Given the description of an element on the screen output the (x, y) to click on. 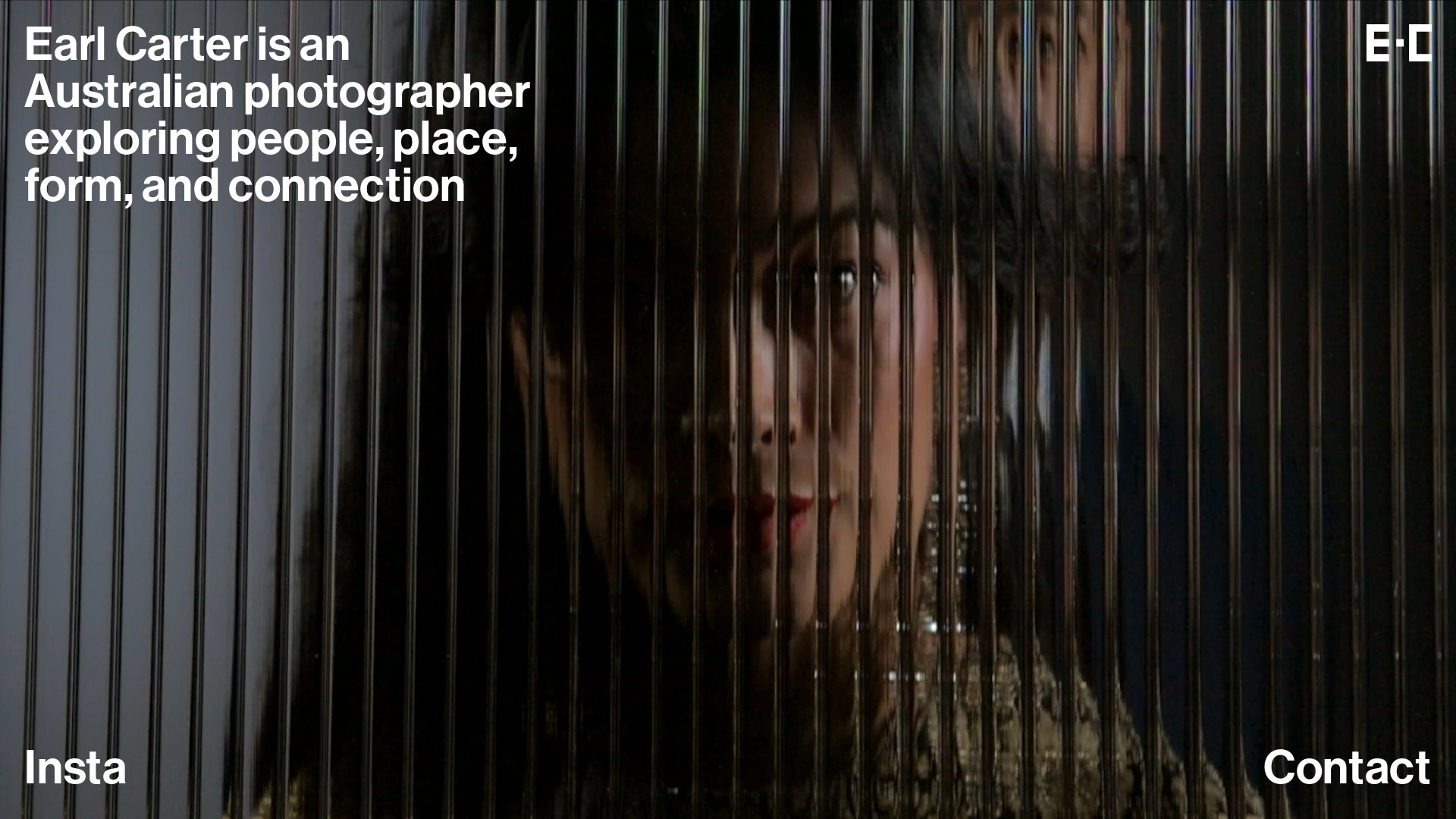
Insta Element type: text (75, 770)
Contact Element type: text (1347, 769)
Contact Element type: text (1347, 770)
Earl ? Element type: text (82, 46)
Work Element type: text (80, 769)
